Given the description of an element on the screen output the (x, y) to click on. 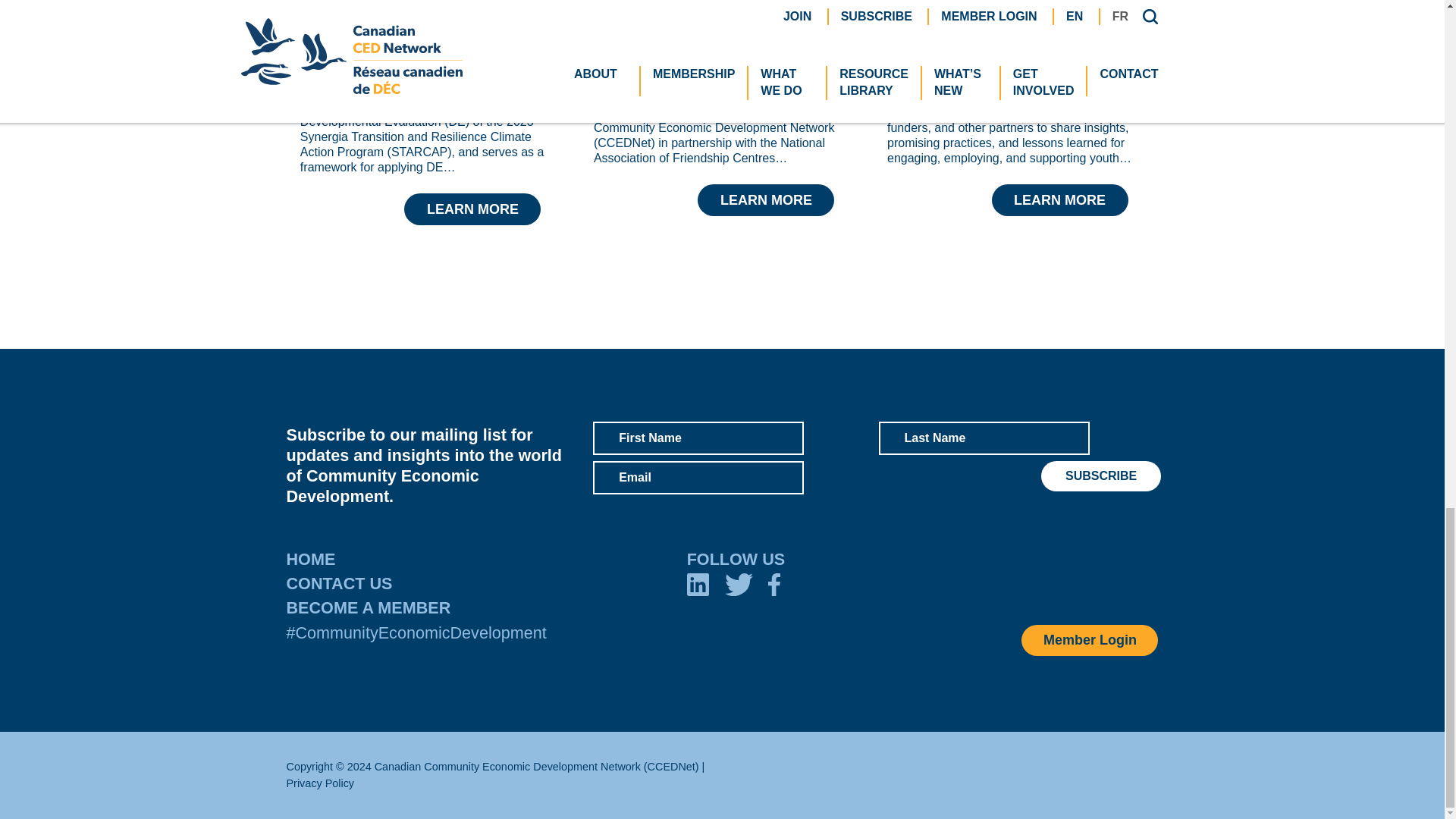
CreateAction Evaluation Summary Report (717, 83)
Subscribe (1100, 476)
